Given the description of an element on the screen output the (x, y) to click on. 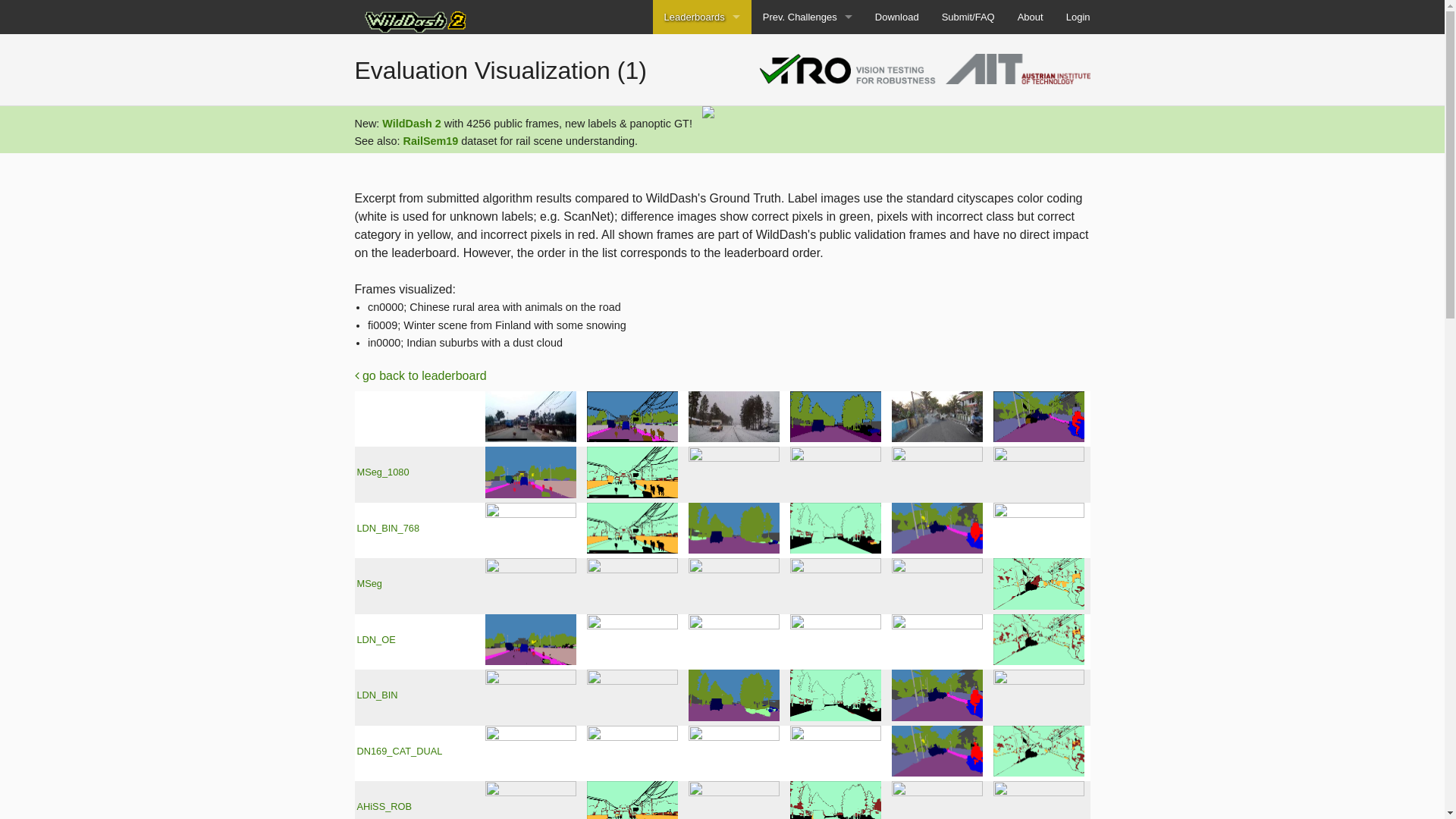
About Element type: text (1030, 17)
LDN_BIN_768 Element type: text (387, 527)
AHiSS_ROB Element type: text (383, 806)
Submit/FAQ Element type: text (968, 17)
LDN_BIN Element type: text (376, 694)
MSeg Element type: text (368, 583)
RailSem19 Element type: text (430, 140)
Login Element type: text (1077, 17)
WD1 Semantic Element type: text (807, 51)
MSeg_1080 Element type: text (382, 471)
WD2 Semantic Element type: text (701, 85)
WildDash 2 Element type: text (411, 123)
WD1 Instance Element type: text (807, 85)
go back to leaderboard Element type: text (420, 375)
LDN_OE Element type: text (375, 639)
DN169_CAT_DUAL Element type: text (399, 750)
Prev. Challenges Element type: text (807, 17)
Download Element type: text (896, 17)
WD2 Panoptic Element type: text (701, 51)
Leaderboards Element type: text (701, 17)
WD2 Instance Element type: text (701, 119)
